Given the description of an element on the screen output the (x, y) to click on. 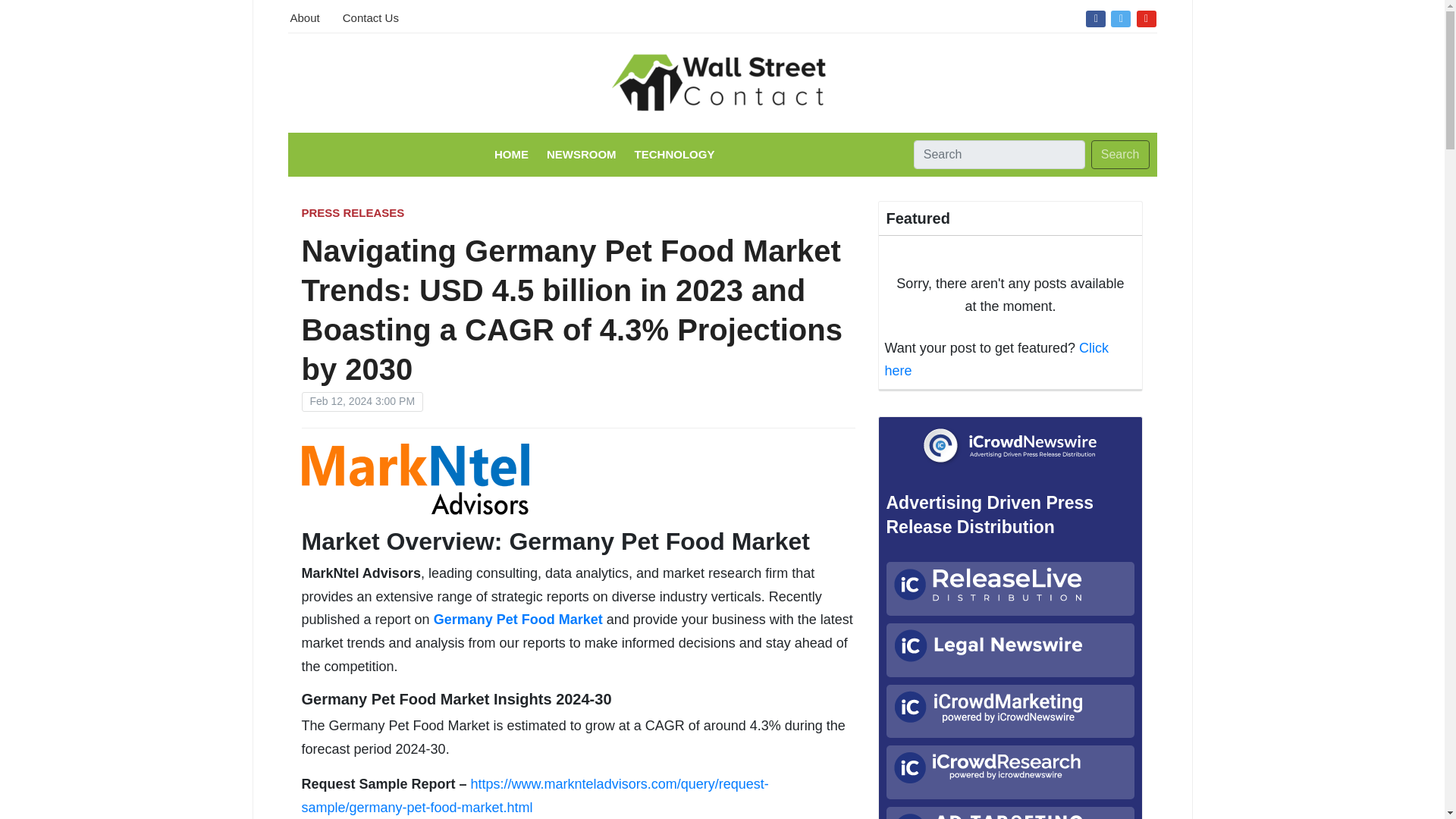
HOME (511, 154)
Germany Pet Food Market (517, 619)
TECHNOLOGY (674, 154)
Contact Us (370, 15)
Facebook (1095, 17)
About (303, 15)
Twitter (1120, 17)
PRESS RELEASES (352, 212)
Youtube (1146, 17)
NEWSROOM (581, 154)
Search (1120, 154)
